Given the description of an element on the screen output the (x, y) to click on. 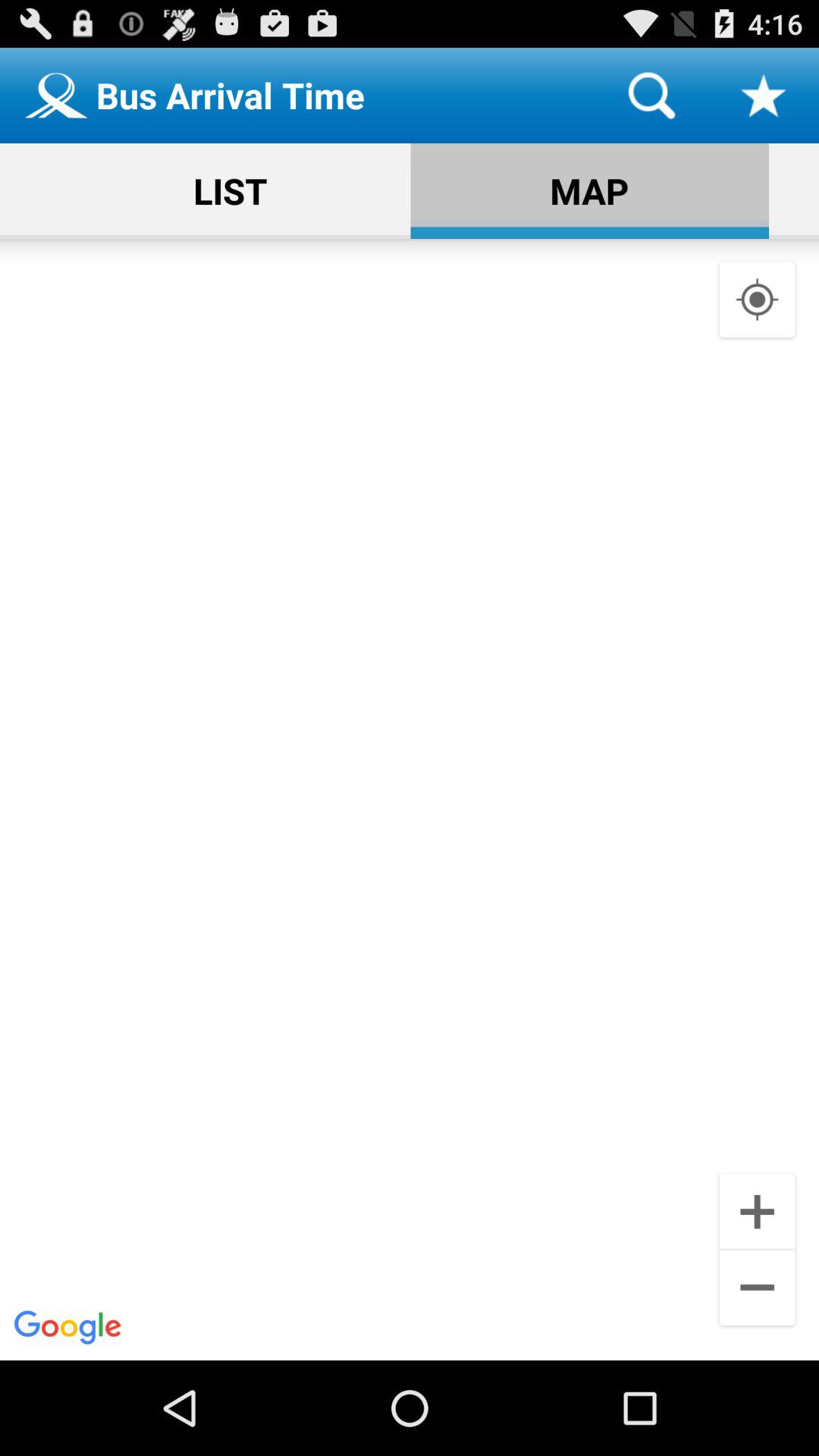
select item next to bus arrival time (651, 95)
